Given the description of an element on the screen output the (x, y) to click on. 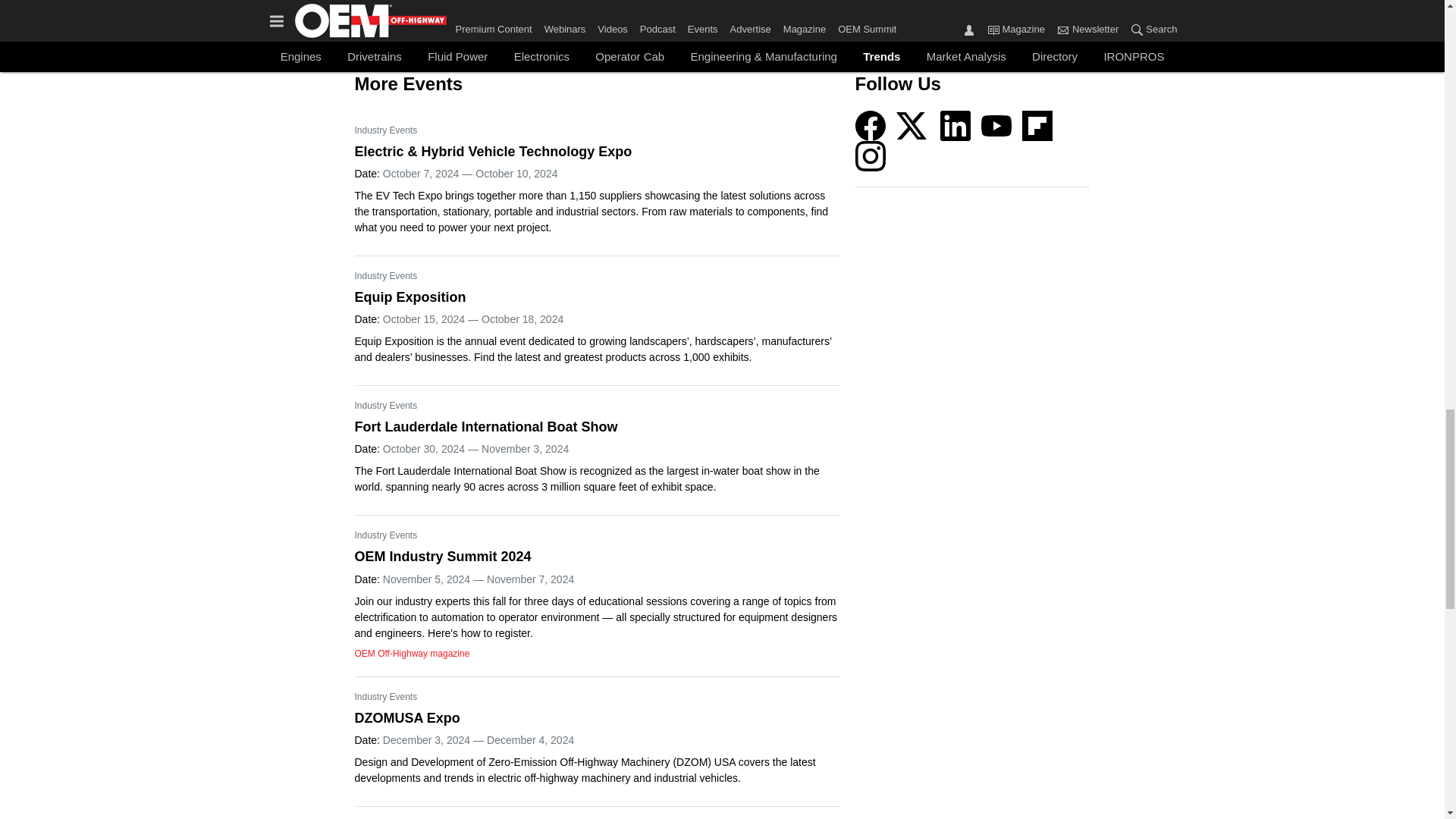
Twitter X icon (911, 125)
Instagram icon (870, 155)
YouTube icon (996, 125)
Flipboard icon (1037, 125)
LinkedIn icon (955, 125)
Facebook icon (870, 125)
